Given the description of an element on the screen output the (x, y) to click on. 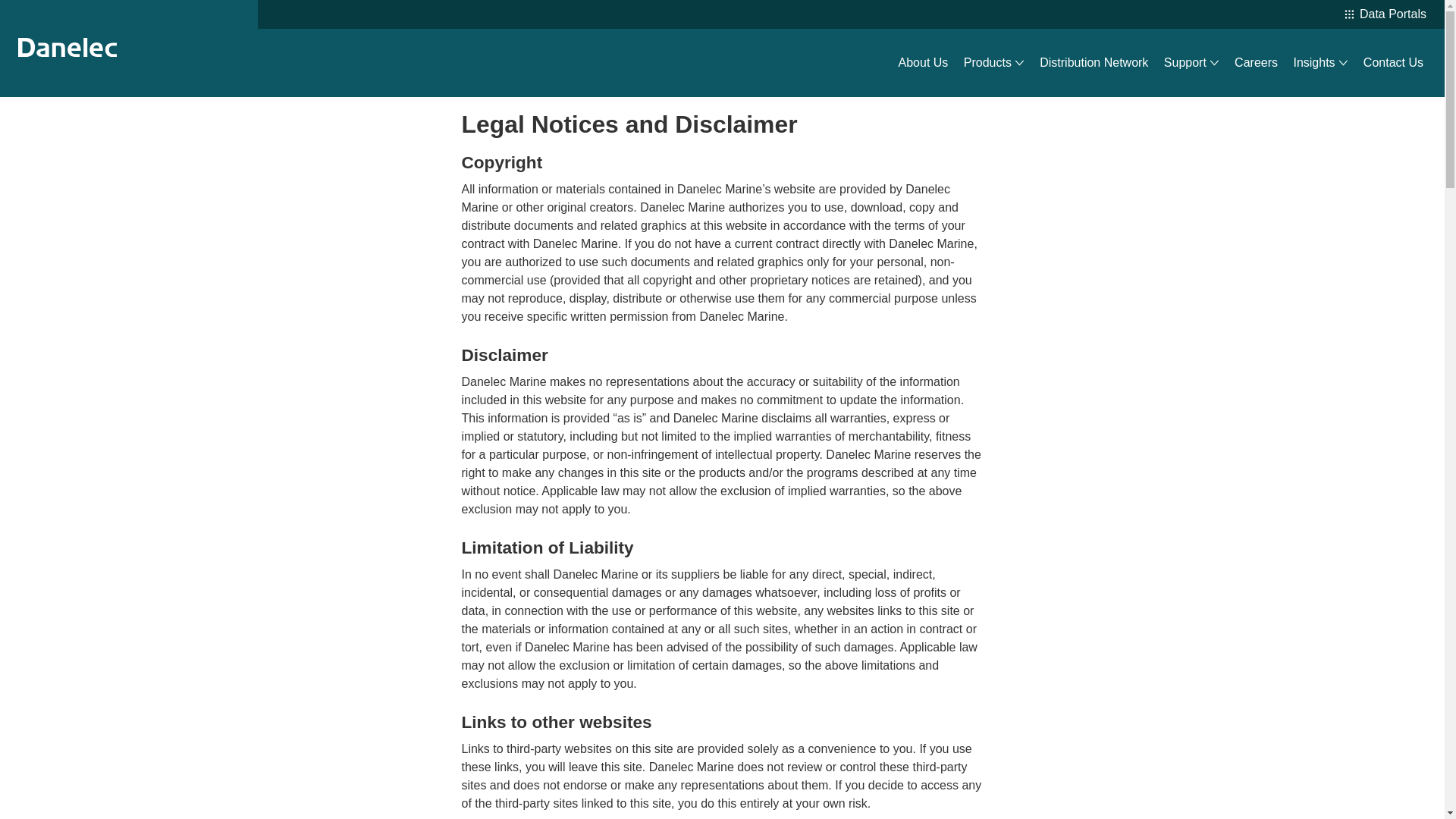
Careers (1256, 63)
Distribution Network (1093, 63)
About Us (923, 63)
Contact Us (1392, 63)
